Given the description of an element on the screen output the (x, y) to click on. 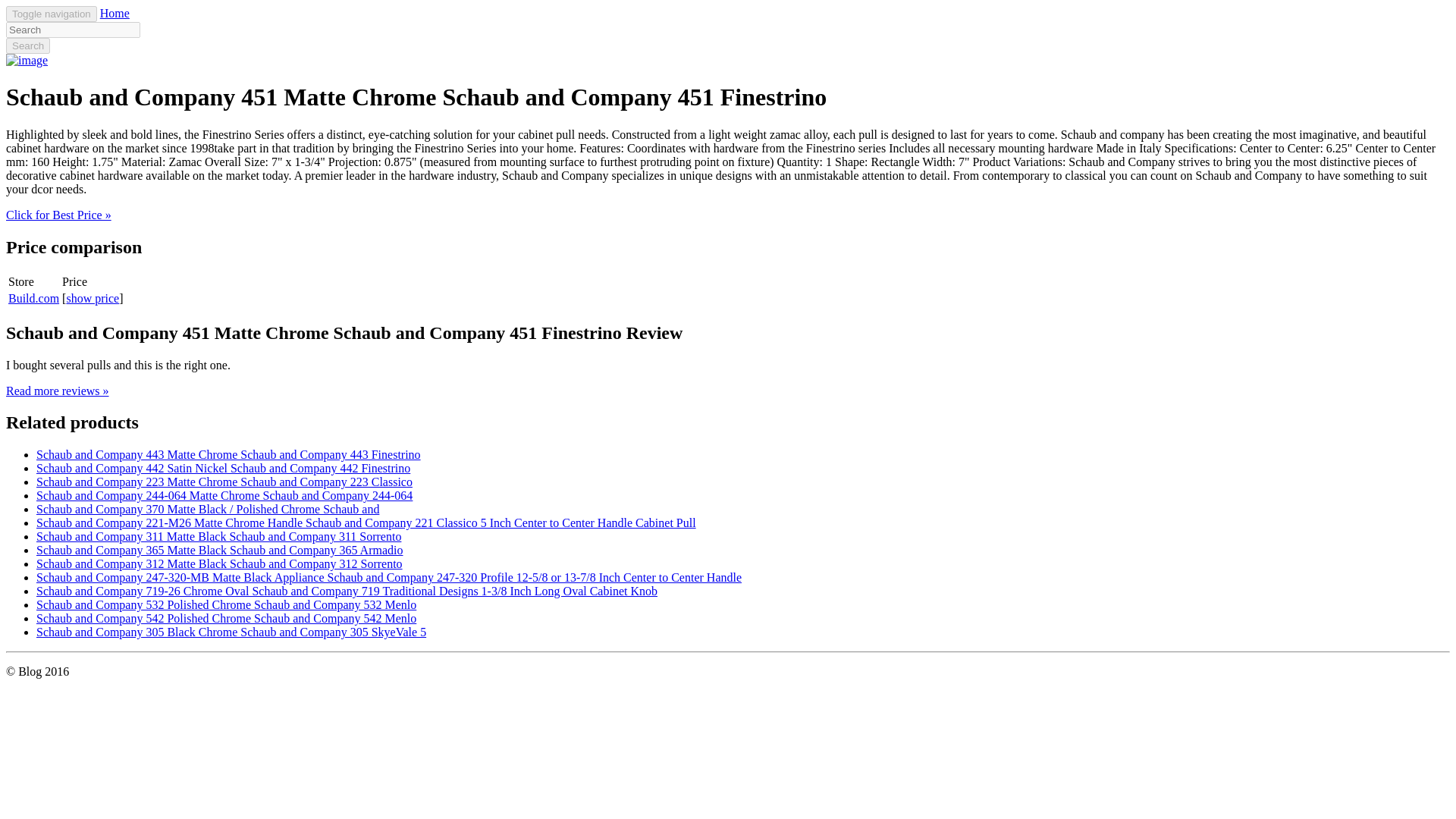
Search (27, 45)
Build.com (33, 297)
